Given the description of an element on the screen output the (x, y) to click on. 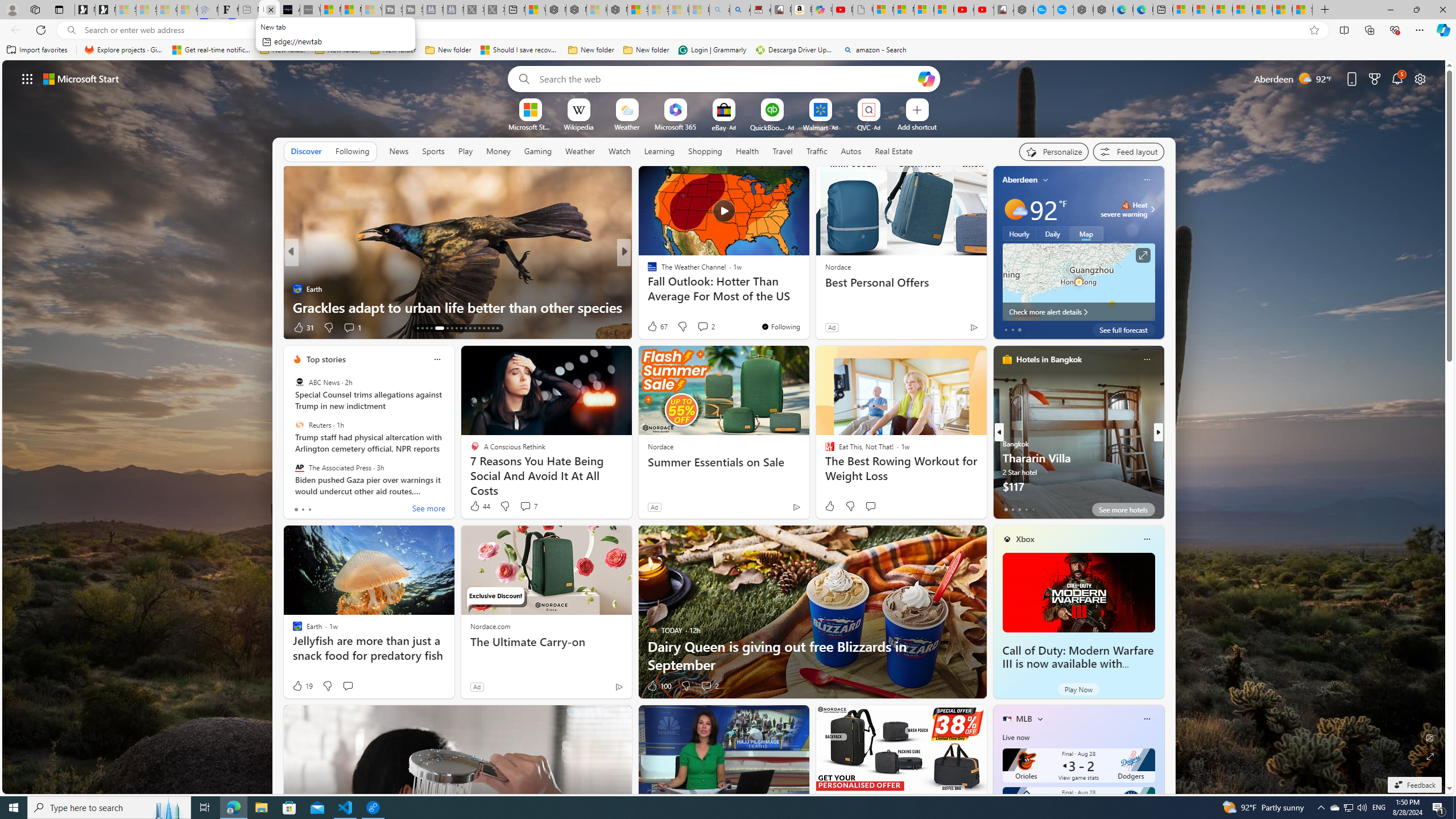
Shopping (705, 151)
AutomationID: tab-23 (451, 328)
The most popular Google 'how to' searches (1063, 9)
Autos (851, 151)
490 Like (654, 327)
127 Like (654, 327)
Search icon (70, 29)
Login | Grammarly (712, 49)
Minimize (1390, 9)
AI Voice Changer for PC and Mac - Voice.ai (289, 9)
I Gained 20 Pounds of Muscle in 30 Days! | Watch (1282, 9)
Nordace - Summer Adventures 2024 (576, 9)
Dislike (685, 685)
